Given the description of an element on the screen output the (x, y) to click on. 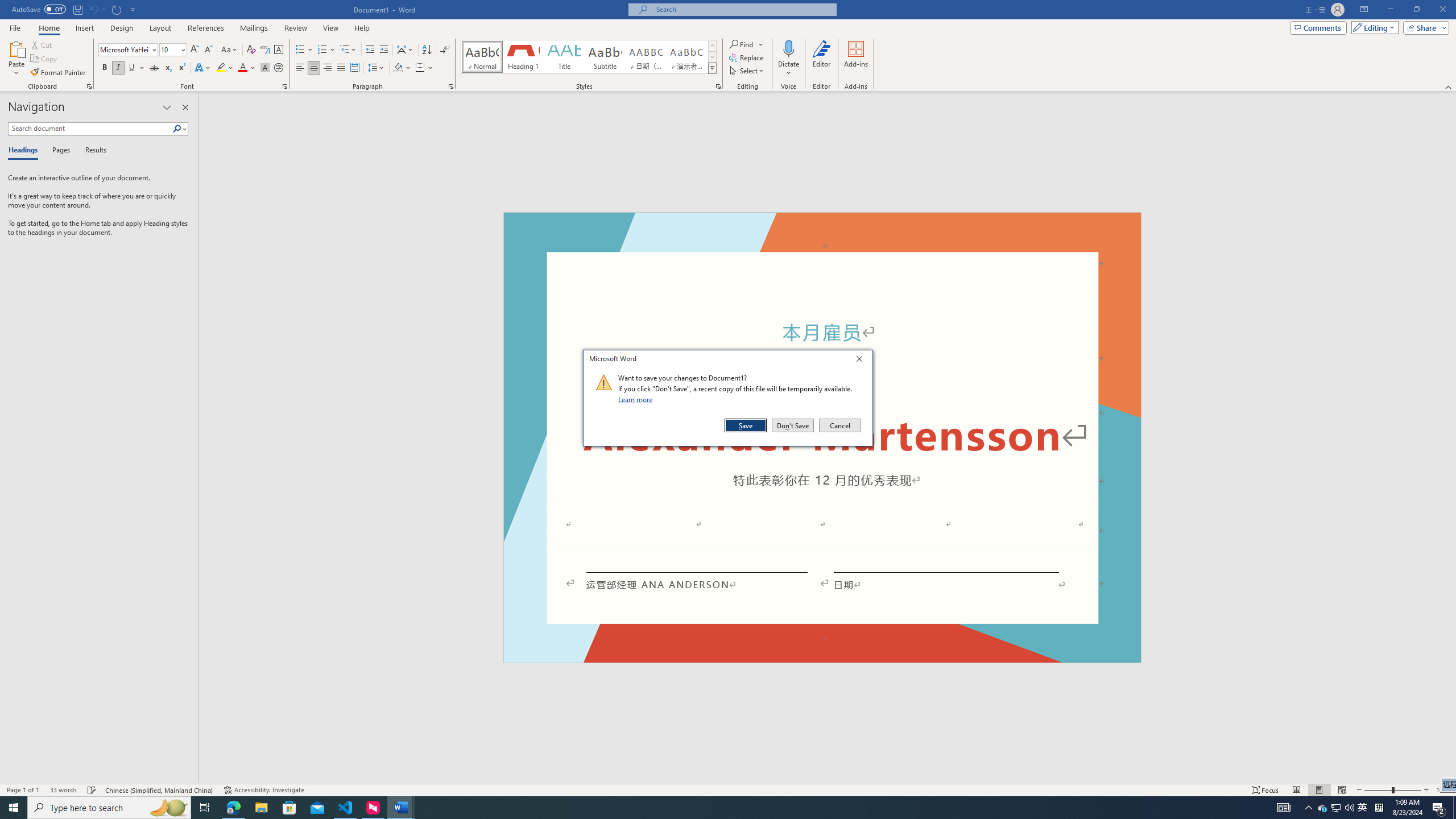
Font Color Red (241, 67)
Word - 2 running windows (400, 807)
